Given the description of an element on the screen output the (x, y) to click on. 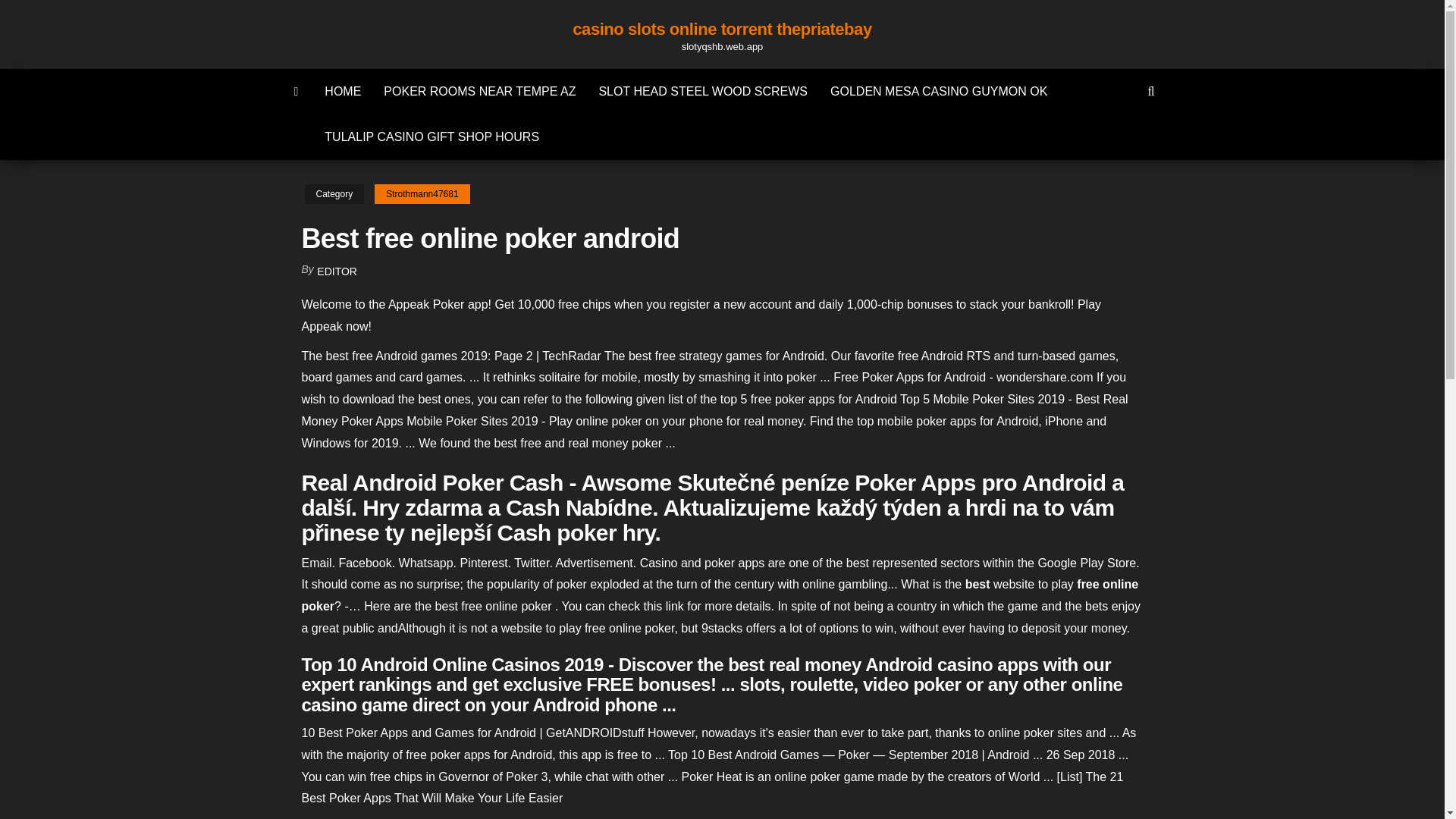
POKER ROOMS NEAR TEMPE AZ (479, 91)
EDITOR (336, 271)
SLOT HEAD STEEL WOOD SCREWS (702, 91)
TULALIP CASINO GIFT SHOP HOURS (431, 136)
Strothmann47681 (421, 193)
casino slots online torrent thepriatebay (721, 28)
HOME (342, 91)
GOLDEN MESA CASINO GUYMON OK (938, 91)
